Given the description of an element on the screen output the (x, y) to click on. 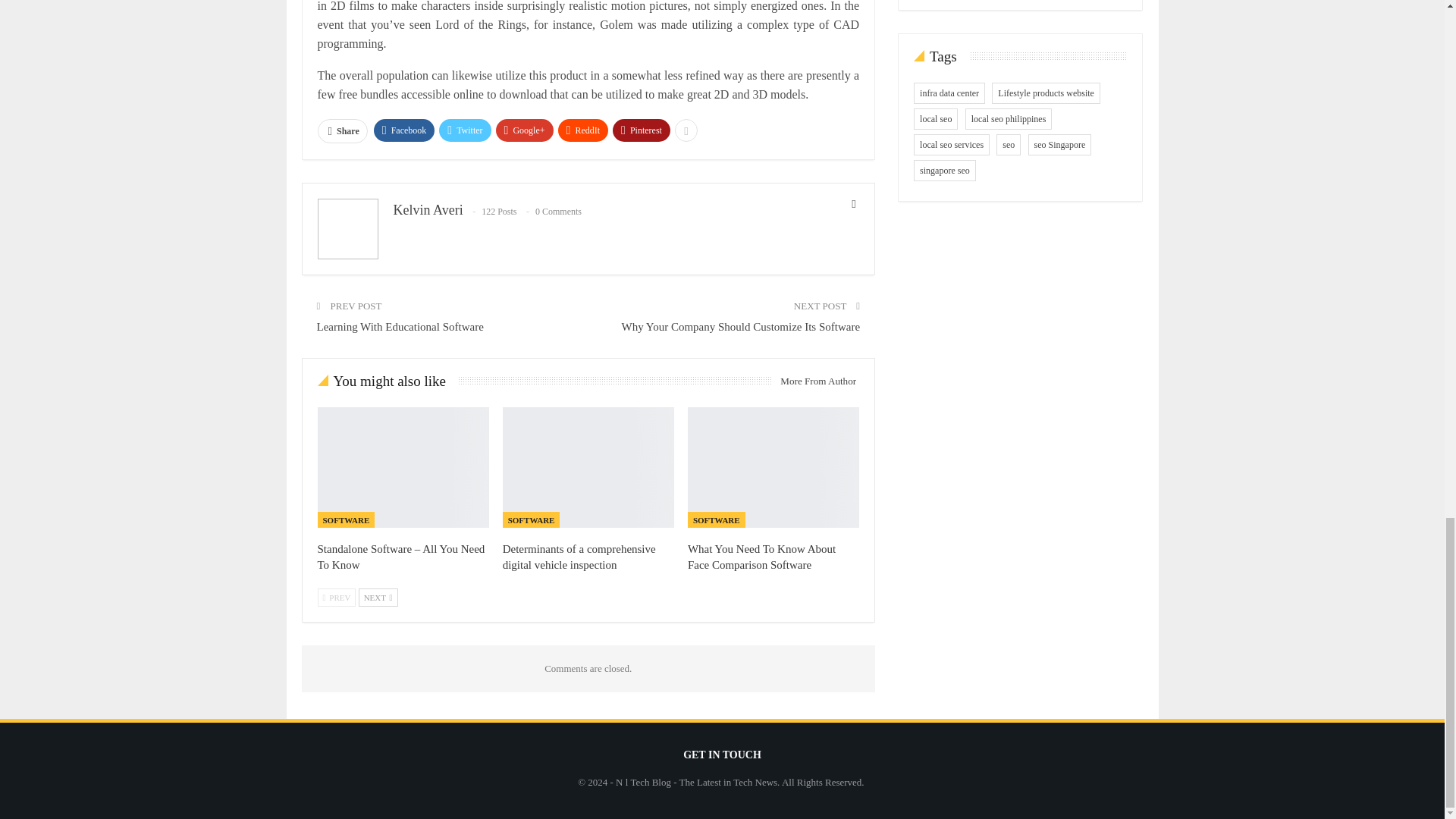
Facebook (404, 129)
Previous (336, 597)
What You Need To Know About Face Comparison Software (761, 556)
Determinants of a comprehensive digital vehicle inspection (579, 556)
ReddIt (582, 129)
Twitter (464, 129)
What You Need To Know About Face Comparison Software (773, 467)
Next (377, 597)
Determinants of a comprehensive digital vehicle inspection (588, 467)
